Given the description of an element on the screen output the (x, y) to click on. 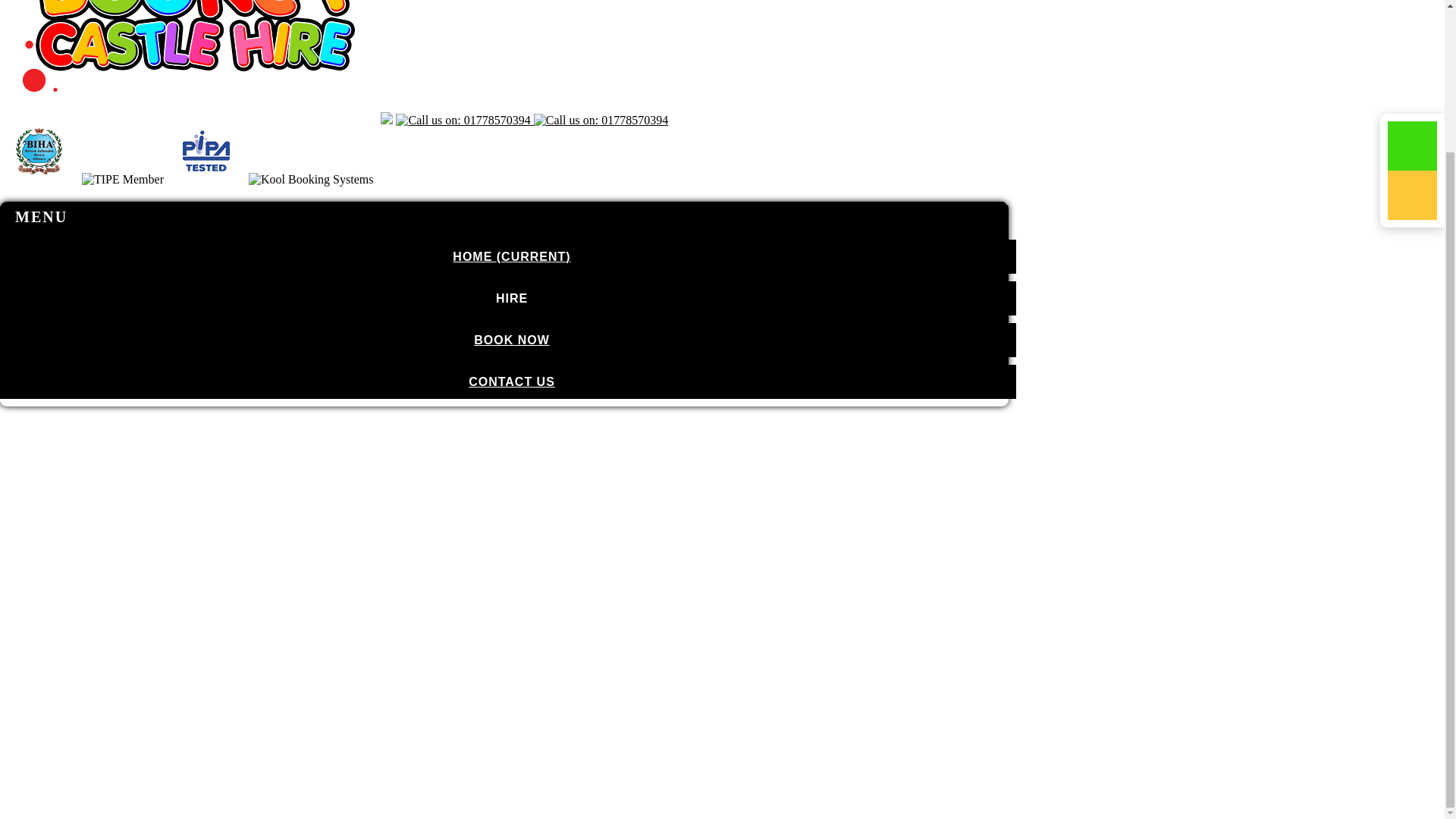
TIPE Member (122, 179)
HIRE (508, 298)
Call us today! (462, 120)
BIHA Member (39, 151)
BOOK NOW (508, 339)
Call us today! (601, 120)
Spalding Bouncy Castle Hire (192, 104)
CONTACT US (508, 381)
PIPA Tested (206, 151)
